Given the description of an element on the screen output the (x, y) to click on. 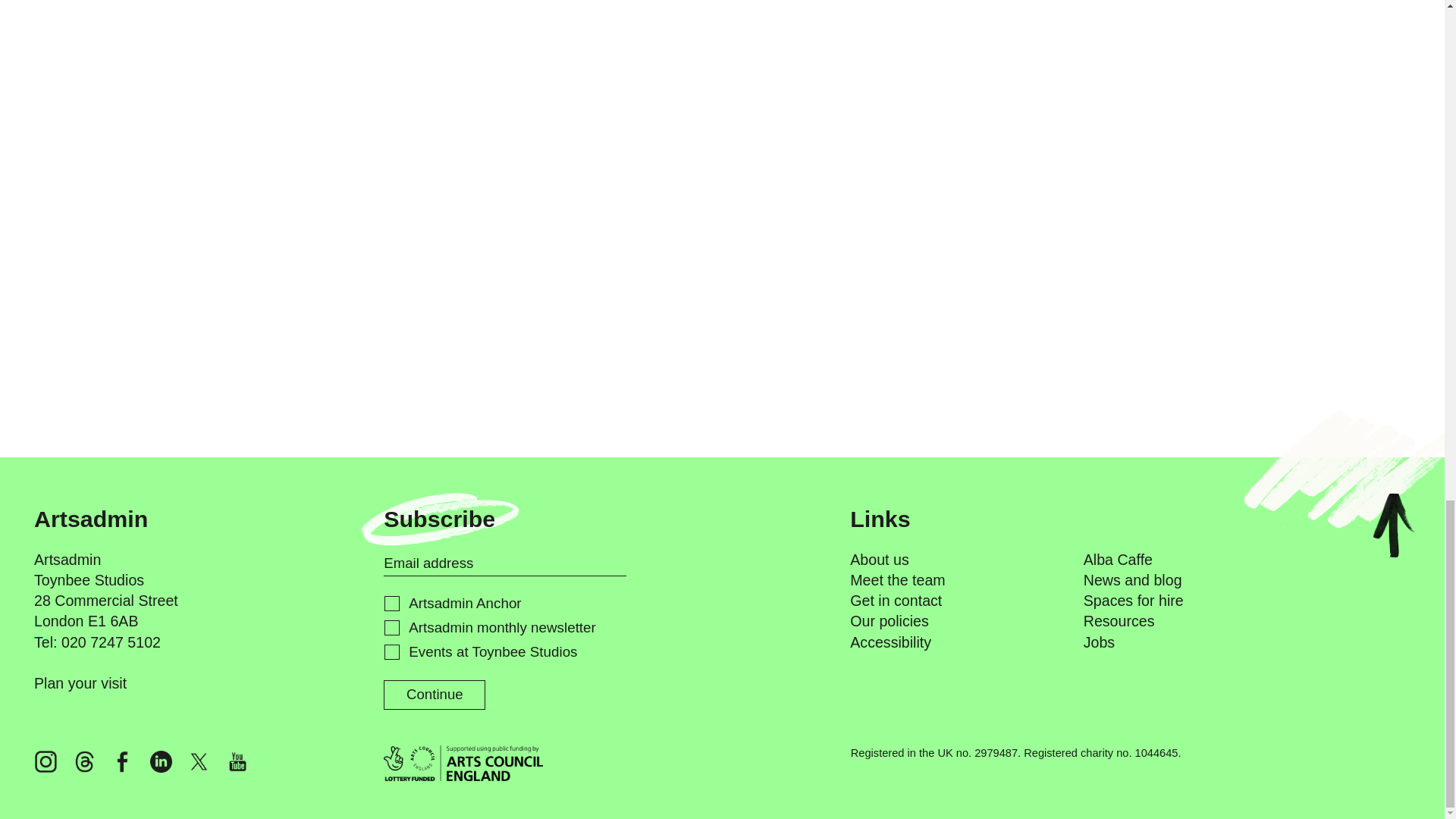
Continue (434, 695)
